Given the description of an element on the screen output the (x, y) to click on. 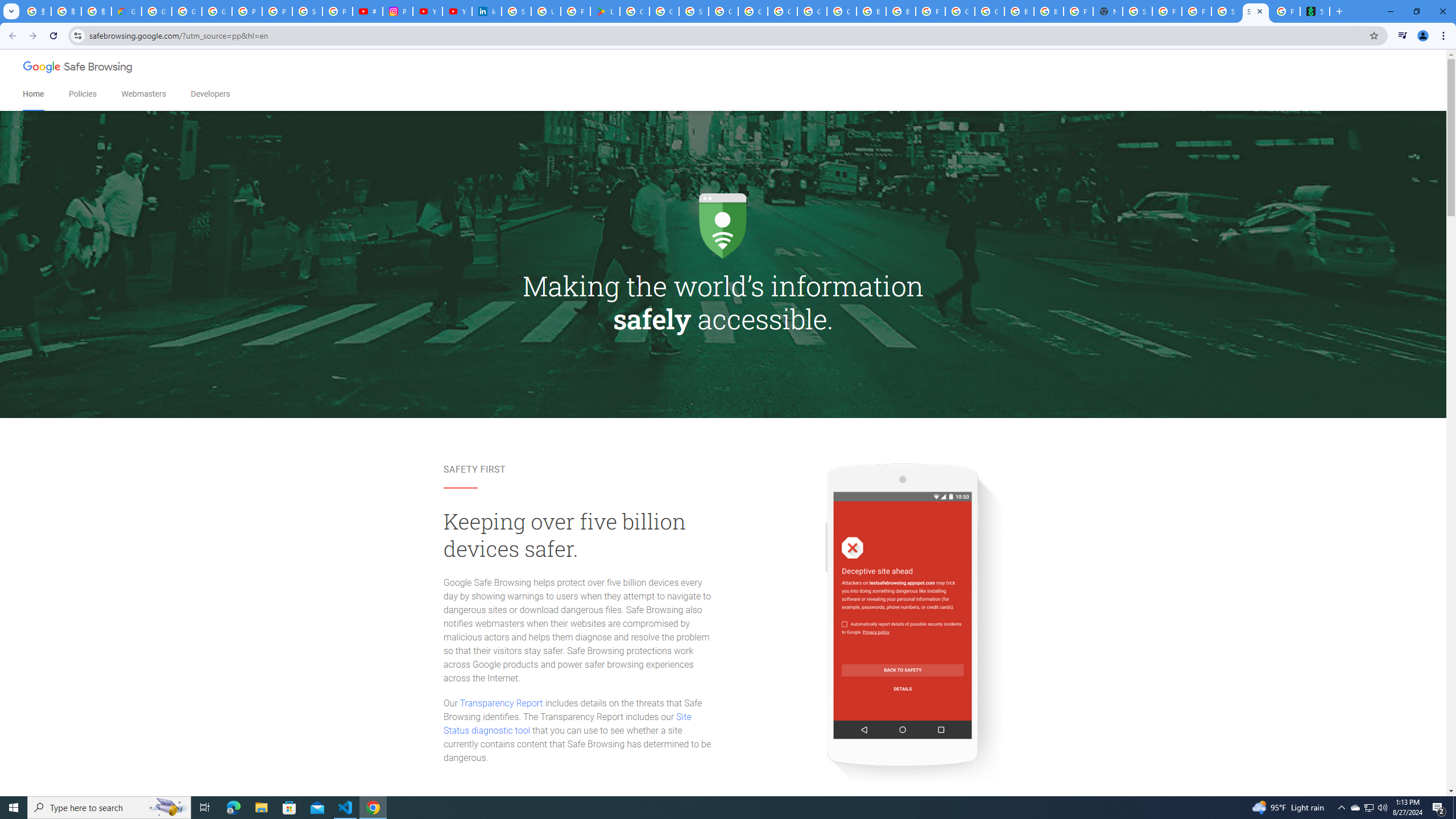
Policies (82, 94)
Transparency Report (501, 703)
Sign in - Google Accounts (306, 11)
